Given the description of an element on the screen output the (x, y) to click on. 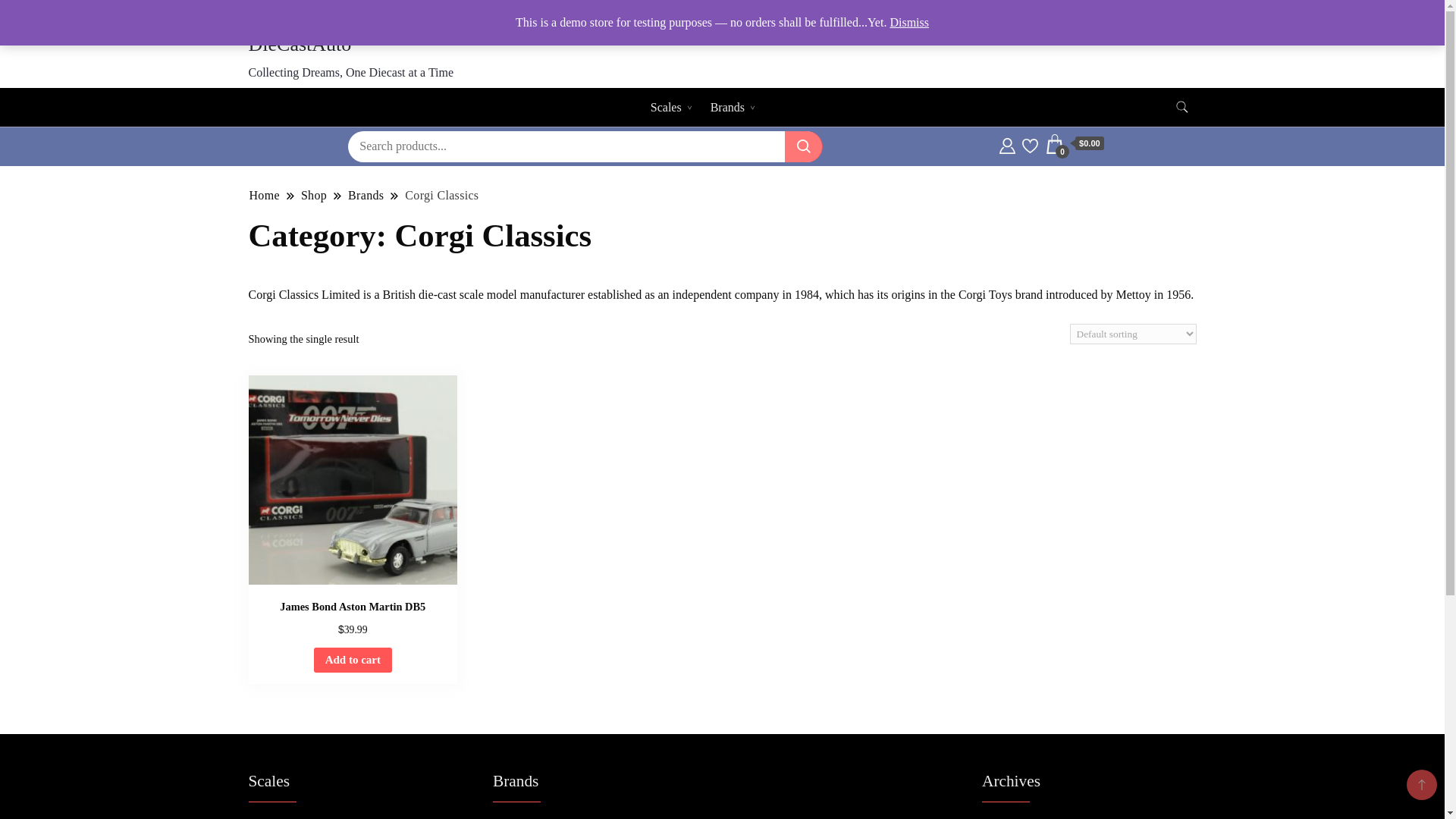
Wishlist (1030, 143)
Cart (1074, 144)
Wishlist (1174, 11)
Checkout (998, 11)
Scales (665, 106)
DieCastAuto (300, 44)
Brands (727, 106)
Shop (1123, 11)
Cart (947, 11)
My Account (1006, 143)
My account (1065, 11)
